Given the description of an element on the screen output the (x, y) to click on. 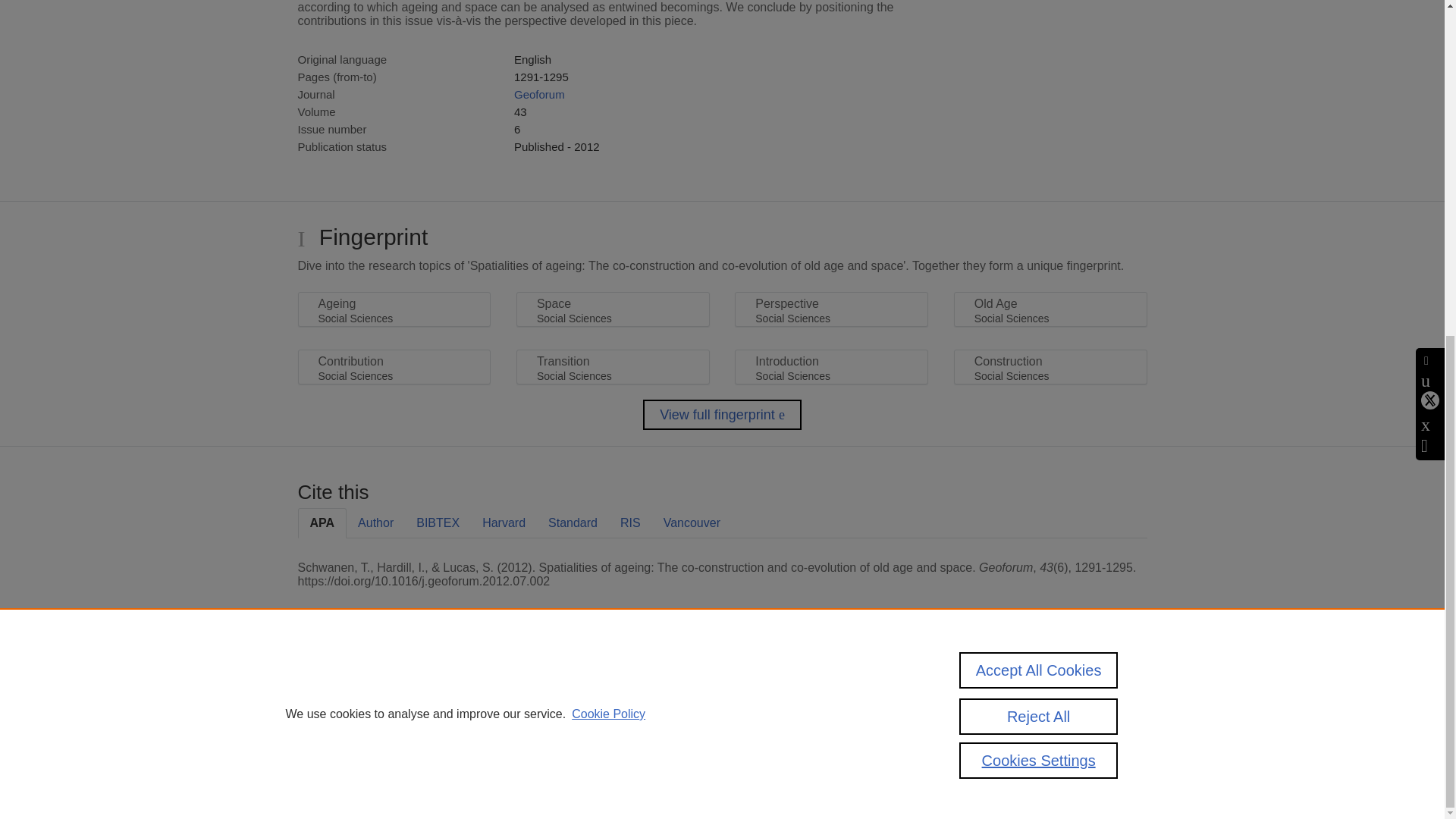
Geoforum (538, 93)
use of cookies (796, 739)
Cookies Settings (334, 760)
View full fingerprint (722, 414)
Scopus (394, 686)
Pure (362, 686)
Elsevier B.V. (506, 707)
Log in to Pure (327, 781)
